Given the description of an element on the screen output the (x, y) to click on. 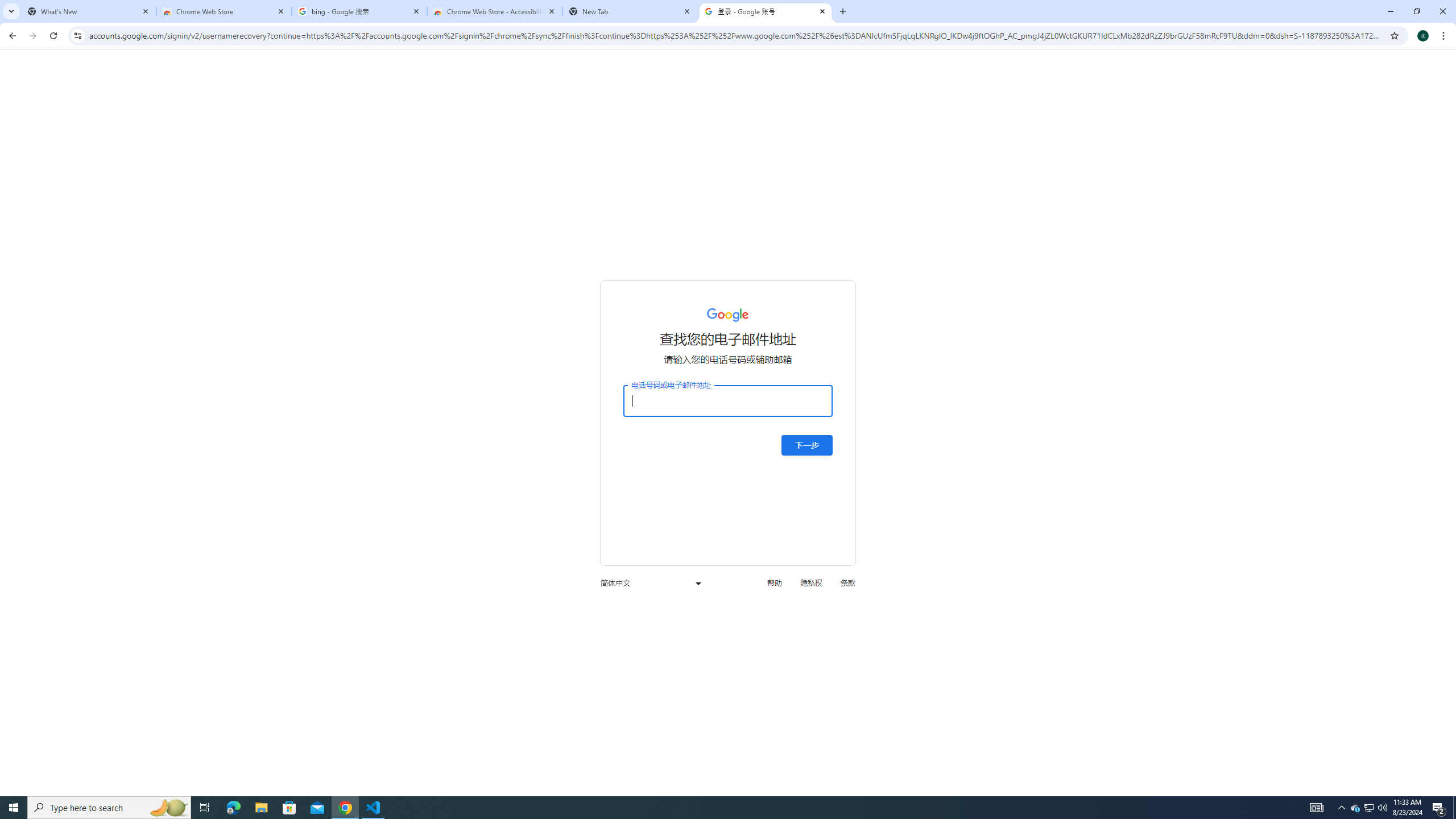
Thesaurus... (105, 77)
Reject and Move to Next (1146, 72)
Compare (1223, 92)
Undo Apply Quick Style Set (165, 18)
New Comment (718, 72)
